Given the description of an element on the screen output the (x, y) to click on. 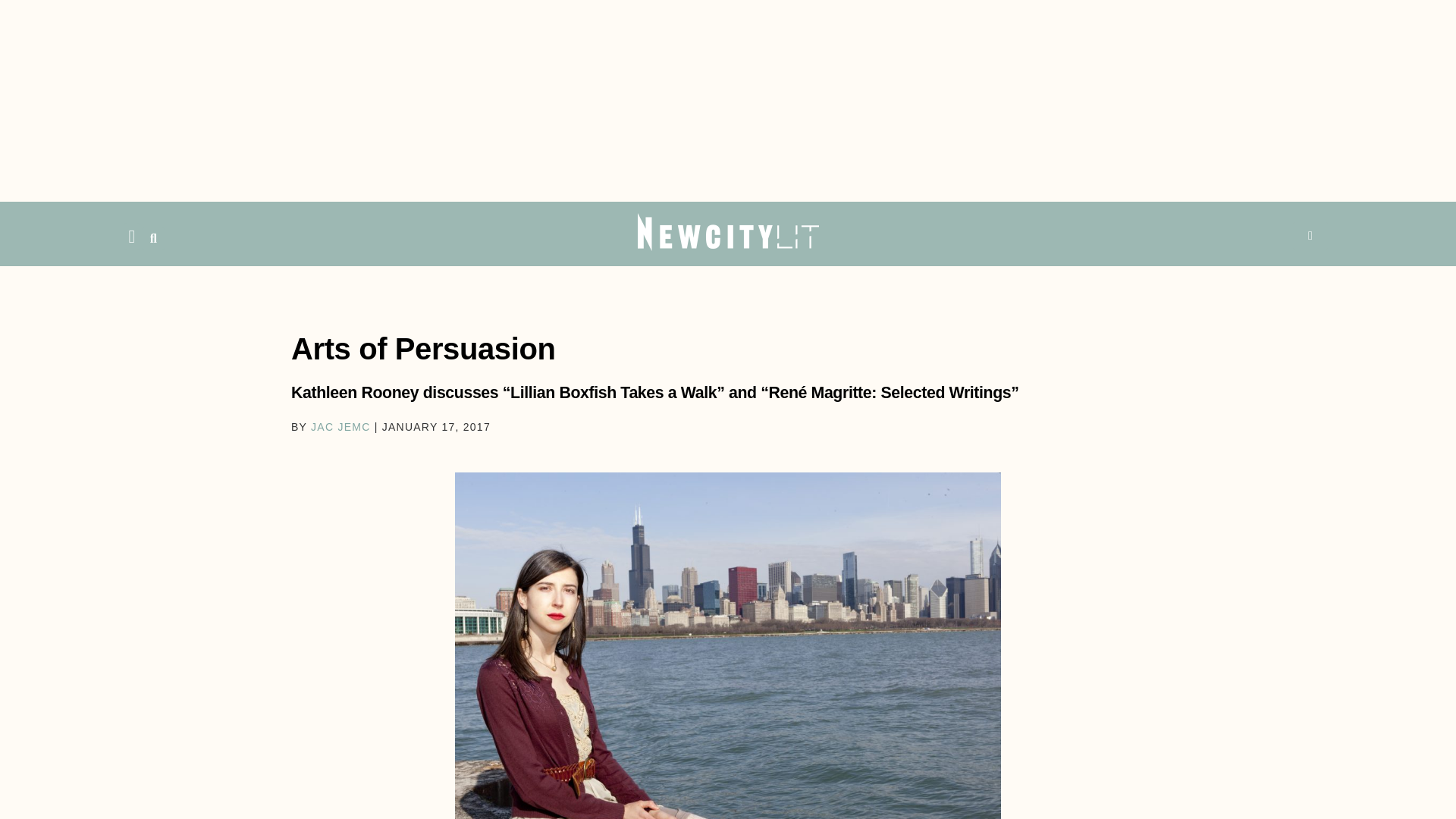
JAC JEMC (340, 426)
